Given the description of an element on the screen output the (x, y) to click on. 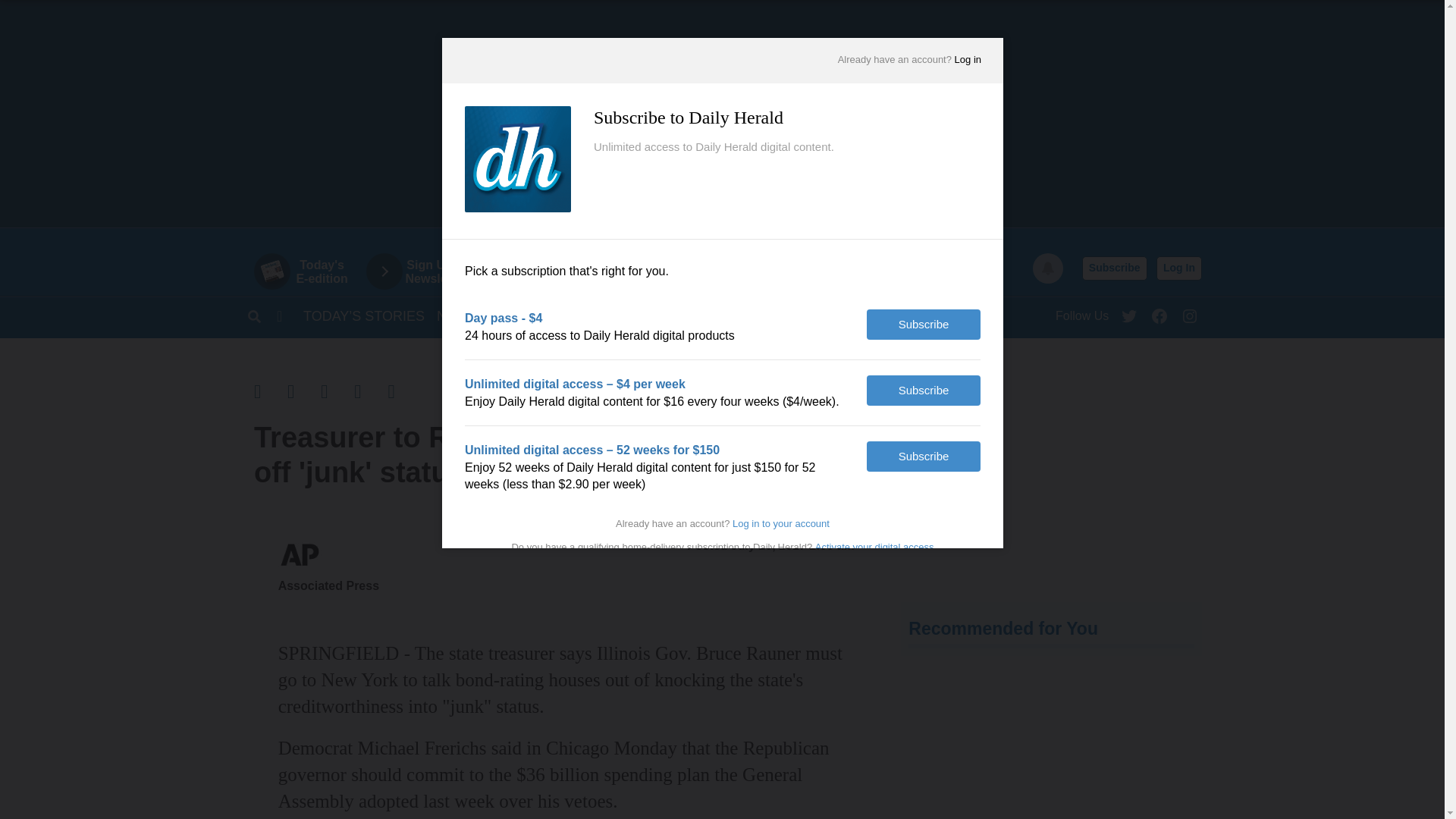
3rd party ad content (307, 271)
BUSINESS (1051, 469)
Log In (757, 315)
NEWS (1179, 268)
Facebook (456, 315)
Instagram (1159, 312)
Subscribe (1189, 312)
Opinion (1114, 268)
SPORTS (586, 315)
Sign Up for Newsletters (517, 315)
Today's Stories (426, 271)
Business (363, 315)
3rd party ad content (757, 315)
ENTERTAINMENT (727, 113)
